Given the description of an element on the screen output the (x, y) to click on. 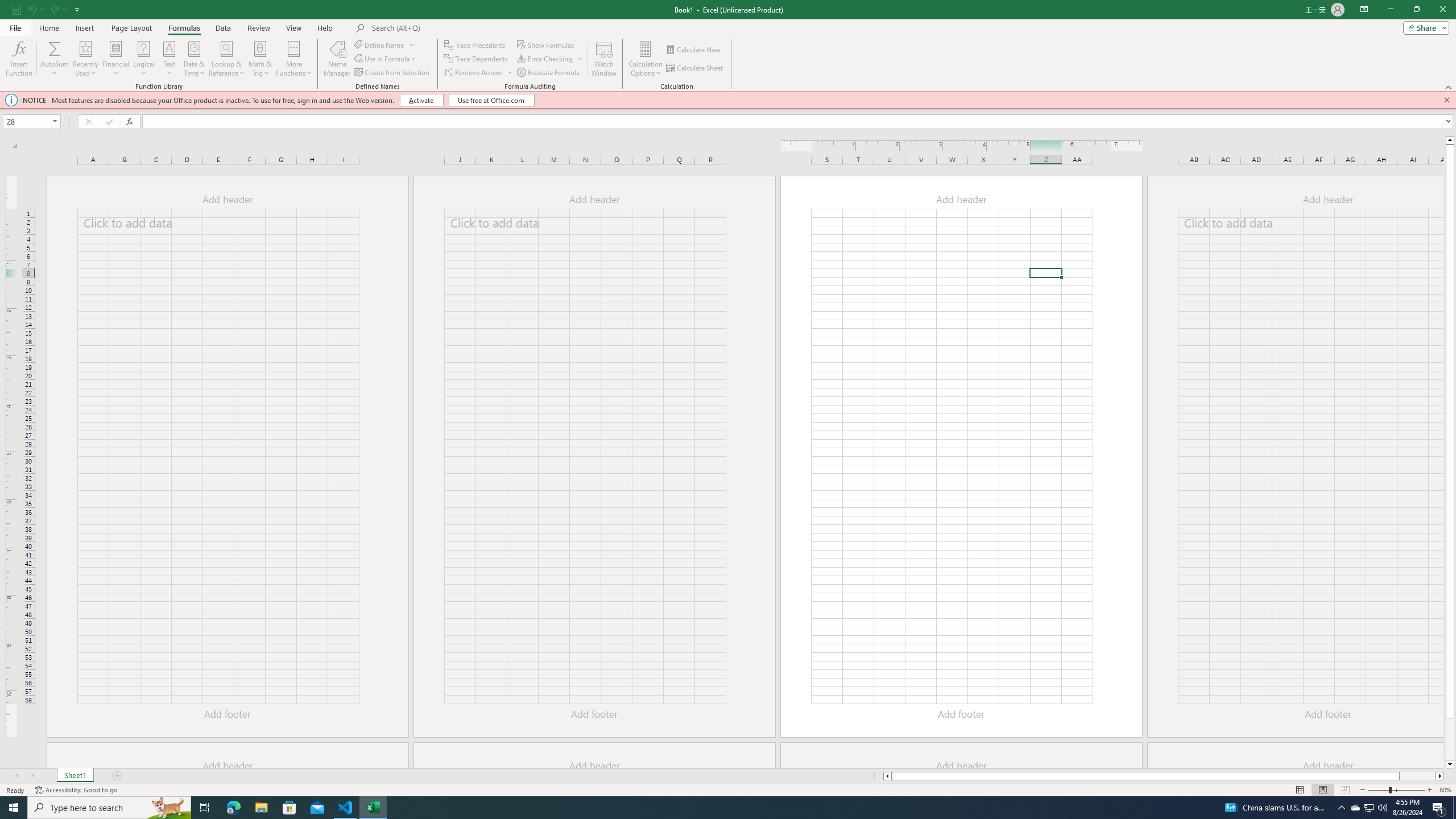
Close this message (1446, 99)
Recently Used (85, 58)
Use in Formula (385, 58)
Error Checking... (545, 58)
